Given the description of an element on the screen output the (x, y) to click on. 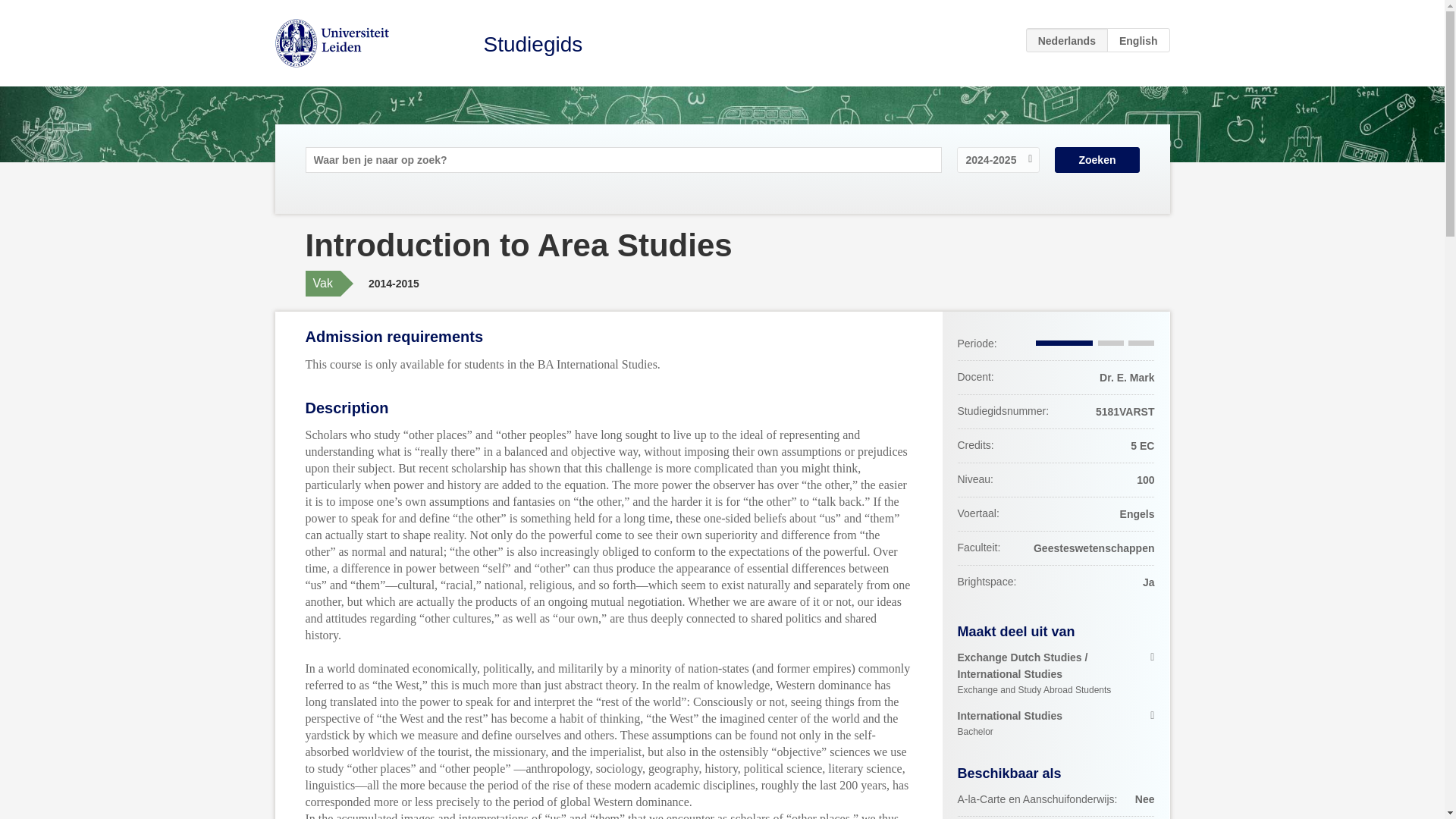
Zoeken (1055, 724)
EN (1096, 159)
Studiegids (1138, 39)
